Given the description of an element on the screen output the (x, y) to click on. 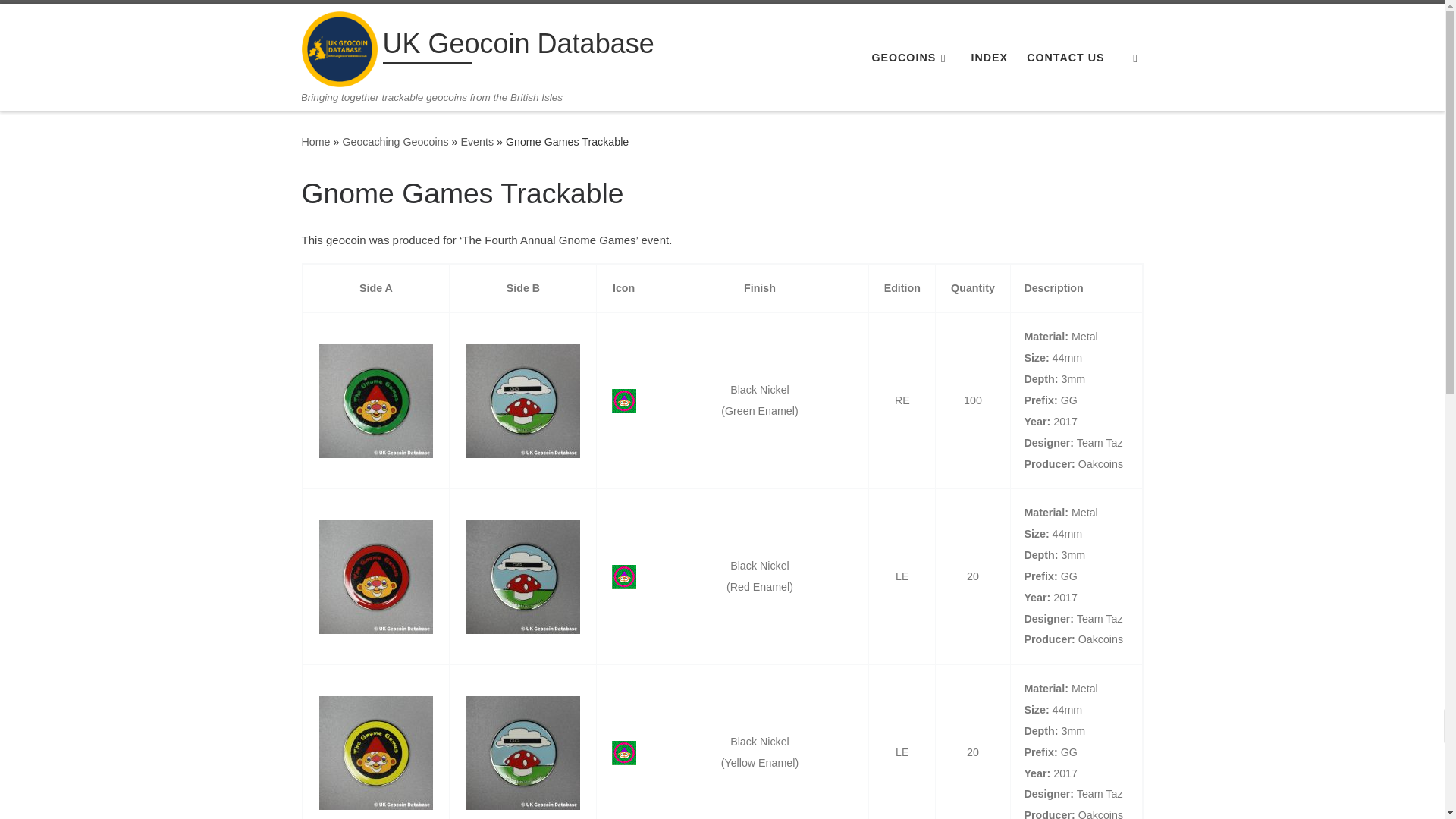
UK Geocoin Database (315, 141)
UK Geocoin Database (517, 47)
GEOCOINS (911, 57)
INDEX (988, 57)
CONTACT US (1065, 57)
Events (476, 141)
Geocaching Geocoins (395, 141)
Skip to content (60, 20)
